Given the description of an element on the screen output the (x, y) to click on. 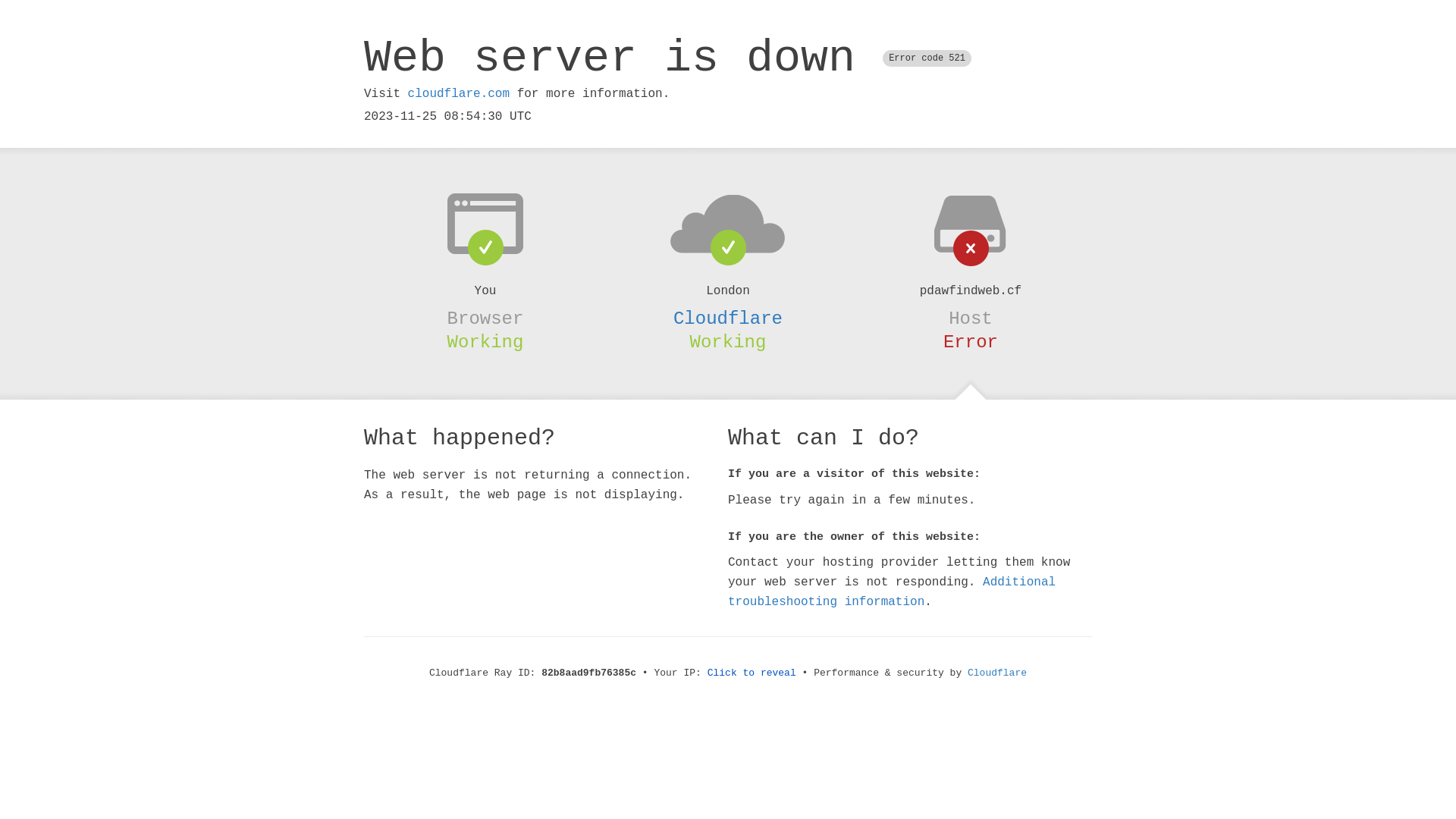
Additional troubleshooting information Element type: text (891, 591)
Cloudflare Element type: text (996, 672)
cloudflare.com Element type: text (458, 93)
Click to reveal Element type: text (751, 672)
Cloudflare Element type: text (727, 318)
